Given the description of an element on the screen output the (x, y) to click on. 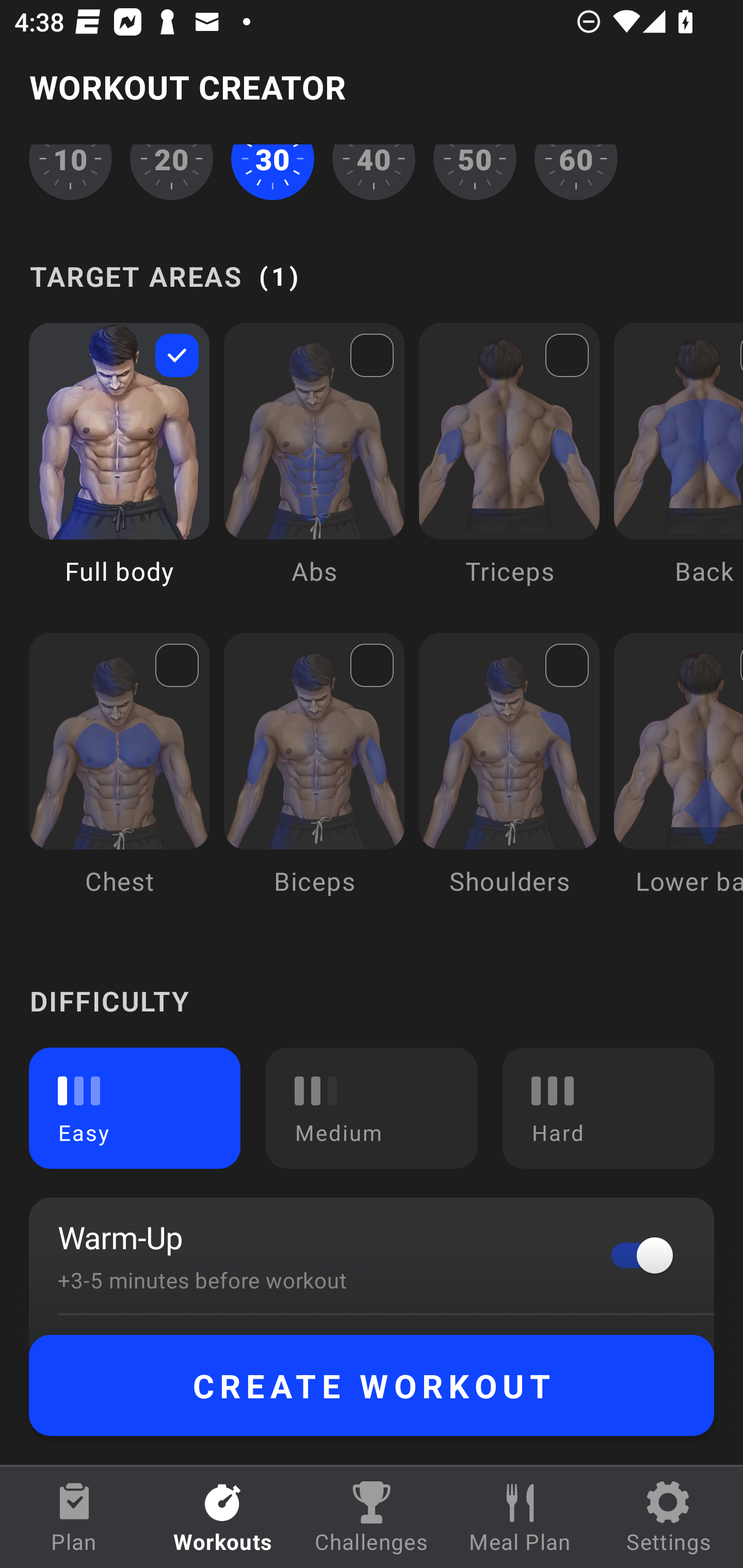
10 (70, 173)
20 (171, 173)
30 (272, 173)
40 (373, 173)
50 (474, 173)
60 (575, 173)
Abs (313, 468)
Triceps (509, 468)
Back (678, 468)
Chest (118, 779)
Biceps (313, 779)
Shoulders (509, 779)
Lower back (678, 779)
Medium (371, 1107)
Hard (608, 1107)
CREATE WORKOUT (371, 1385)
 Plan  (74, 1517)
 Challenges  (371, 1517)
 Meal Plan  (519, 1517)
 Settings  (668, 1517)
